Given the description of an element on the screen output the (x, y) to click on. 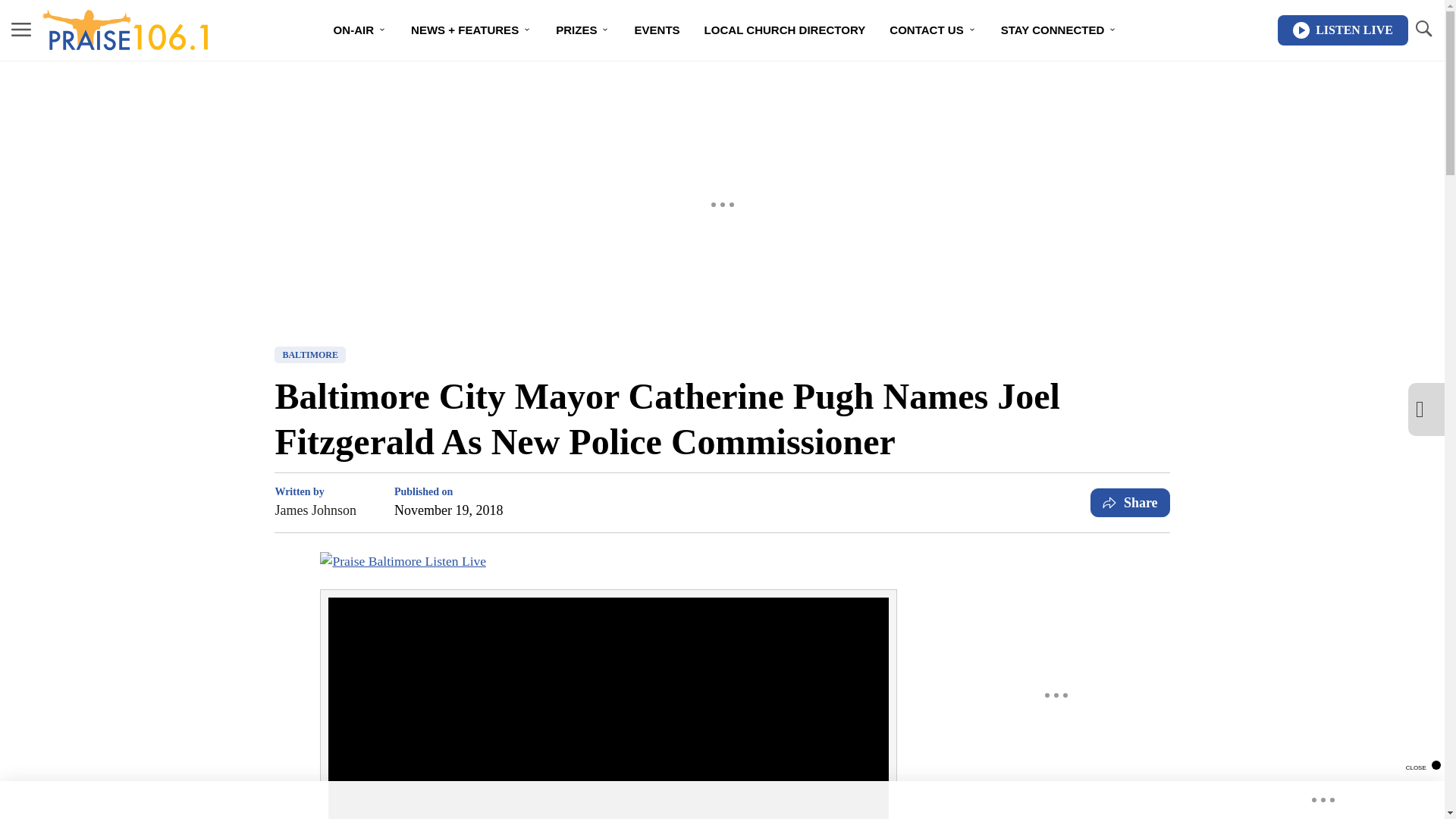
LOCAL CHURCH DIRECTORY (785, 30)
MENU (20, 29)
TOGGLE SEARCH (1422, 28)
EVENTS (656, 30)
ON-AIR (359, 30)
LISTEN LIVE (1342, 30)
PRIZES (582, 30)
STAY CONNECTED (1058, 30)
CONTACT US (932, 30)
TOGGLE SEARCH (1422, 30)
